Given the description of an element on the screen output the (x, y) to click on. 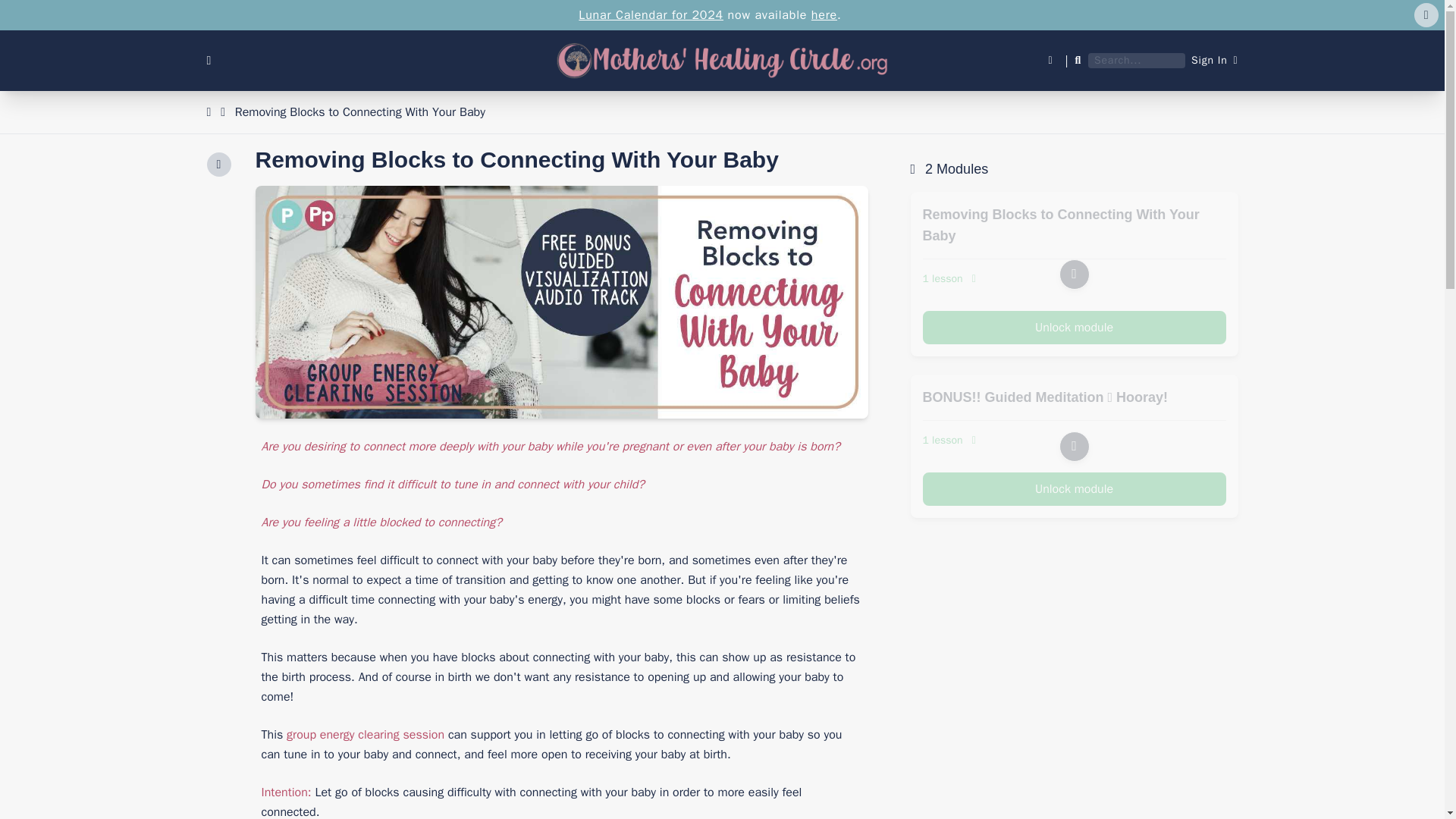
1 lesson (1074, 440)
Removing Blocks to Connecting With Your Baby (359, 111)
Sign In (1214, 60)
here (823, 14)
search (20, 7)
Unlock module (1074, 489)
Lunar Calendar for 2024 (650, 14)
1 lesson (1074, 278)
Unlock module (1074, 327)
